Given the description of an element on the screen output the (x, y) to click on. 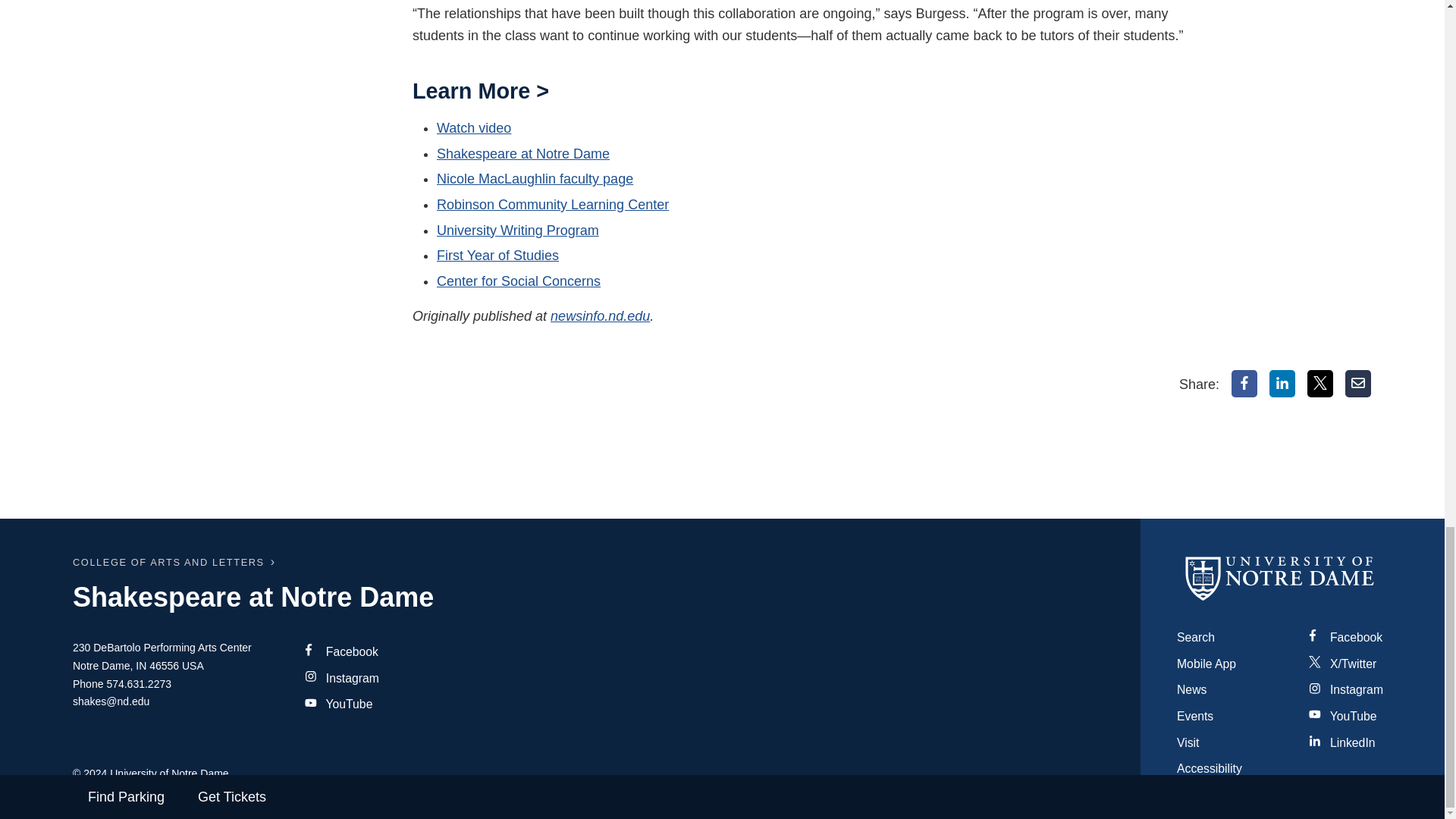
Facebook (1244, 383)
Watch video (473, 127)
LinkedIn (1282, 383)
Email (1358, 383)
Shakespeare at Notre Dame (523, 153)
